Given the description of an element on the screen output the (x, y) to click on. 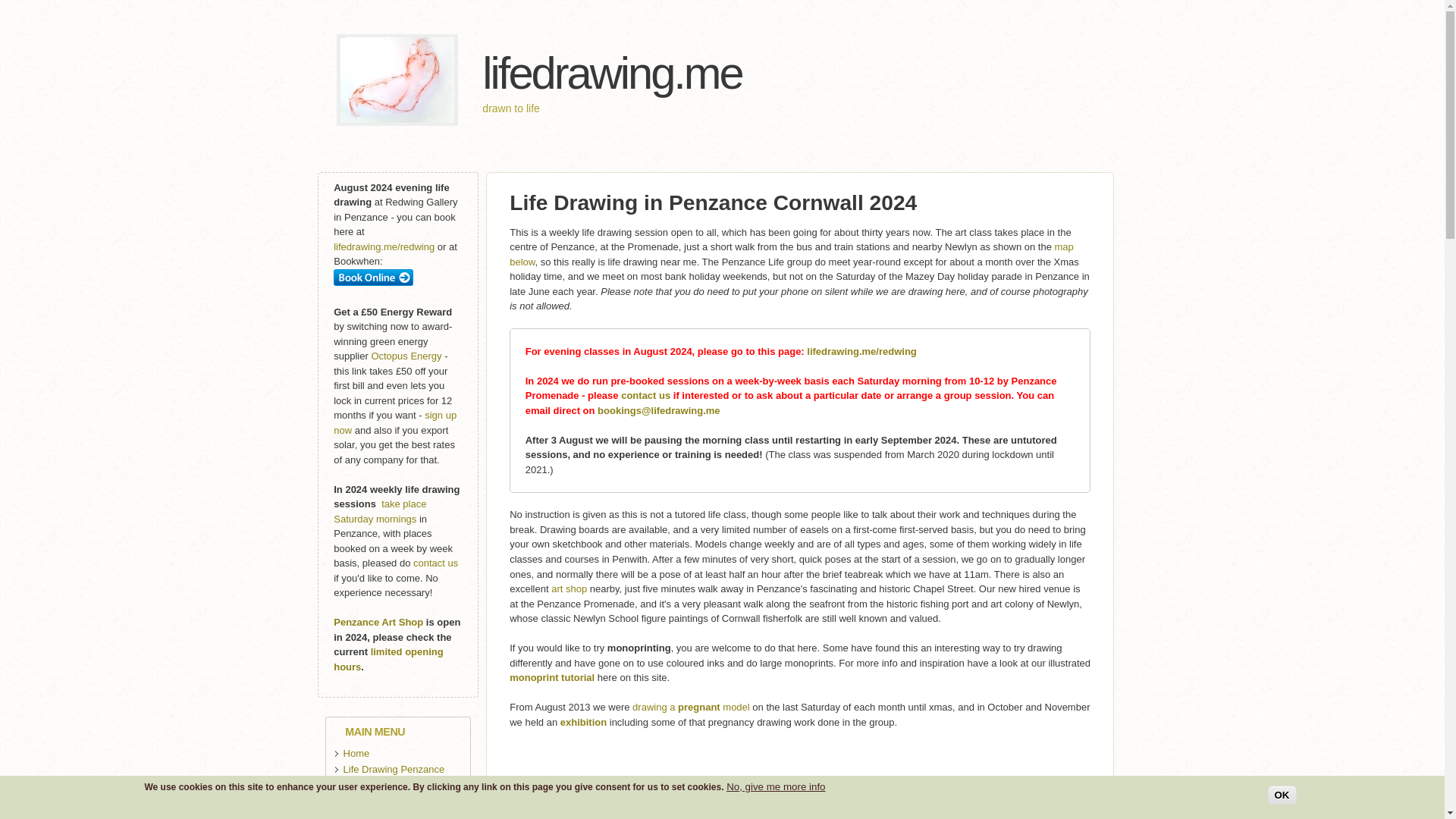
contact us (645, 332)
art shop (568, 524)
Contact life drawing class (645, 332)
Life Drawing in Penzance Cornwall 2024 (713, 168)
drawing a pregnant model (690, 643)
lifedrawing.me (587, 56)
Home page (587, 56)
monoprint tutorial (551, 613)
Home page (384, 64)
map below (791, 221)
exhibition (583, 658)
